Given the description of an element on the screen output the (x, y) to click on. 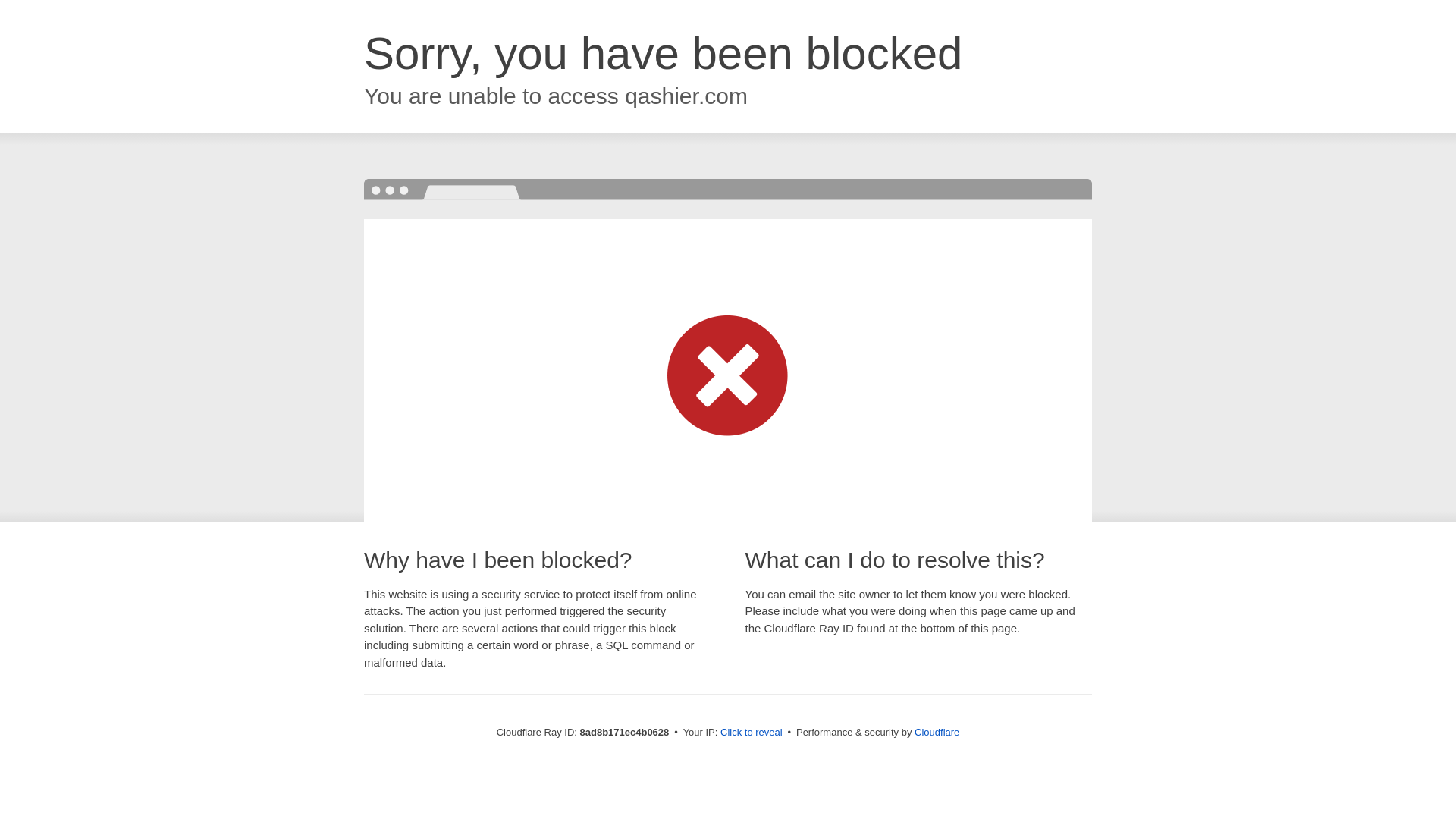
Cloudflare (936, 731)
Click to reveal (751, 732)
